Given the description of an element on the screen output the (x, y) to click on. 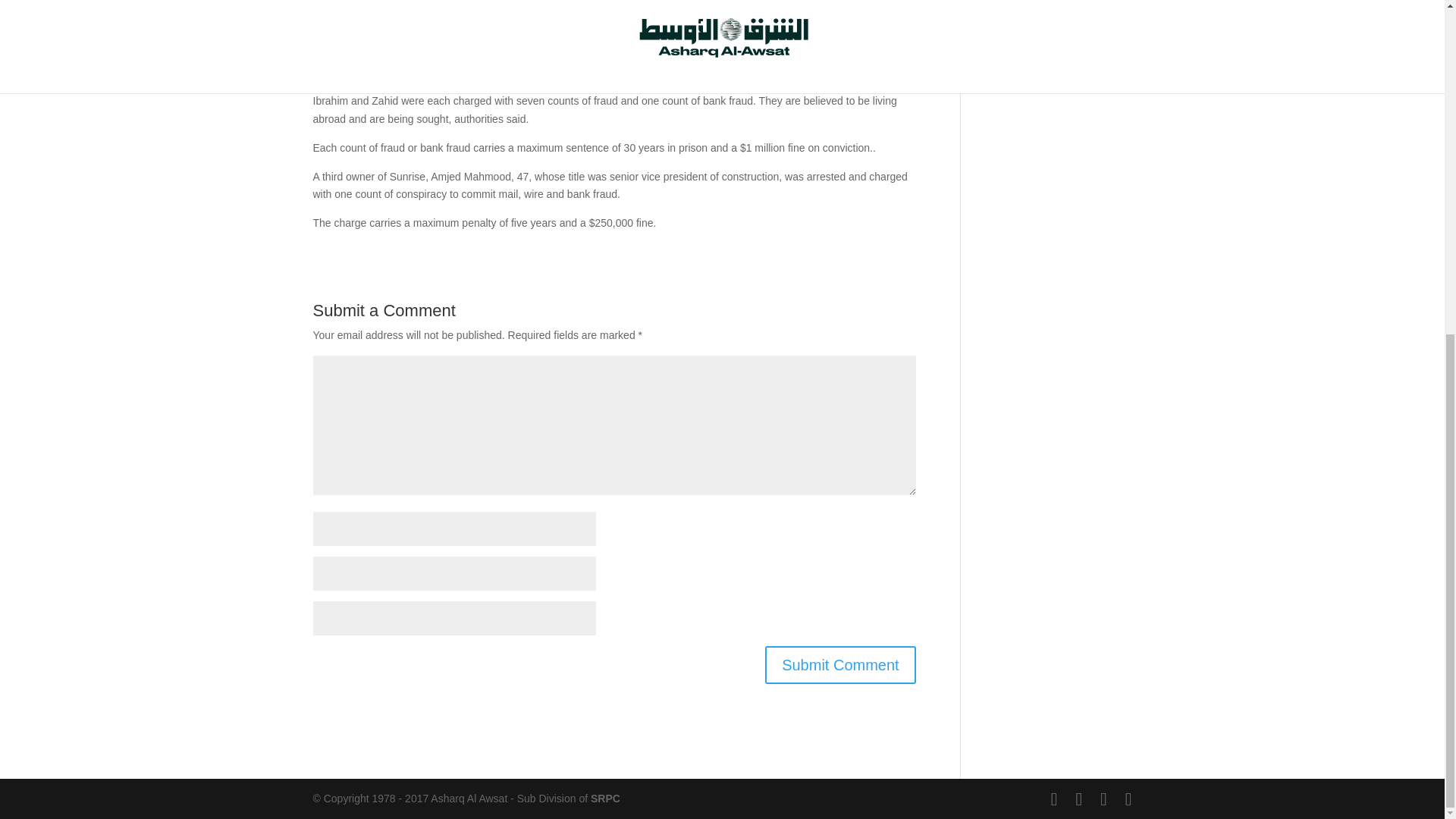
SRPC (605, 798)
Submit Comment (840, 664)
Submit Comment (840, 664)
